Given the description of an element on the screen output the (x, y) to click on. 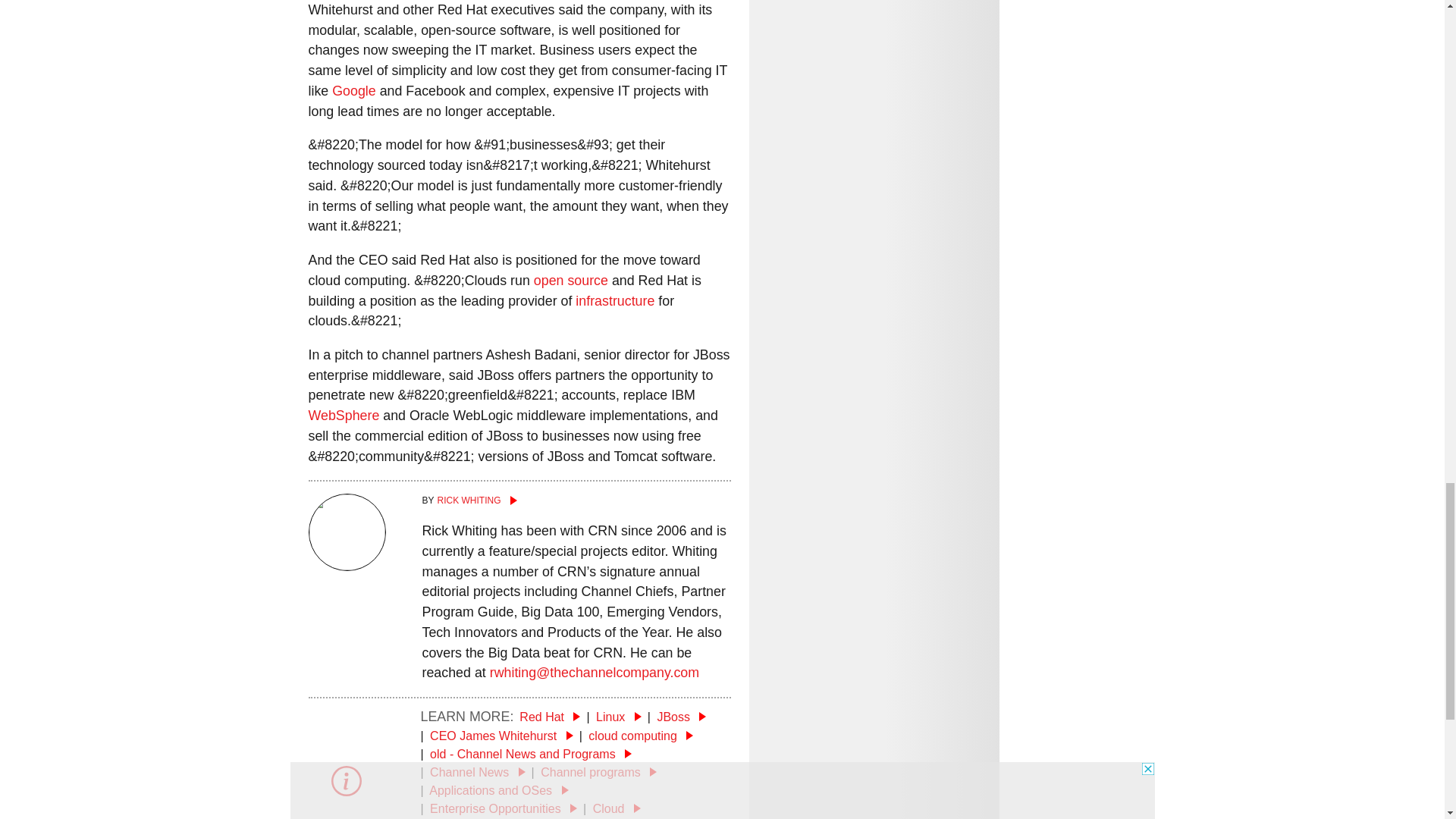
Red Hat (549, 716)
infrastructure (614, 300)
Channel programs (598, 771)
old - Channel News and Programs (530, 753)
Channel News (477, 771)
Channel programs (598, 771)
Google (353, 90)
WebSphere (342, 415)
CEO James Whitehurst (501, 735)
Cloud (616, 808)
JBoss (681, 716)
RICK WHITING (576, 499)
CEO James Whitehurst (501, 735)
cloud computing (640, 735)
Enterprise Opportunities (502, 808)
